Given the description of an element on the screen output the (x, y) to click on. 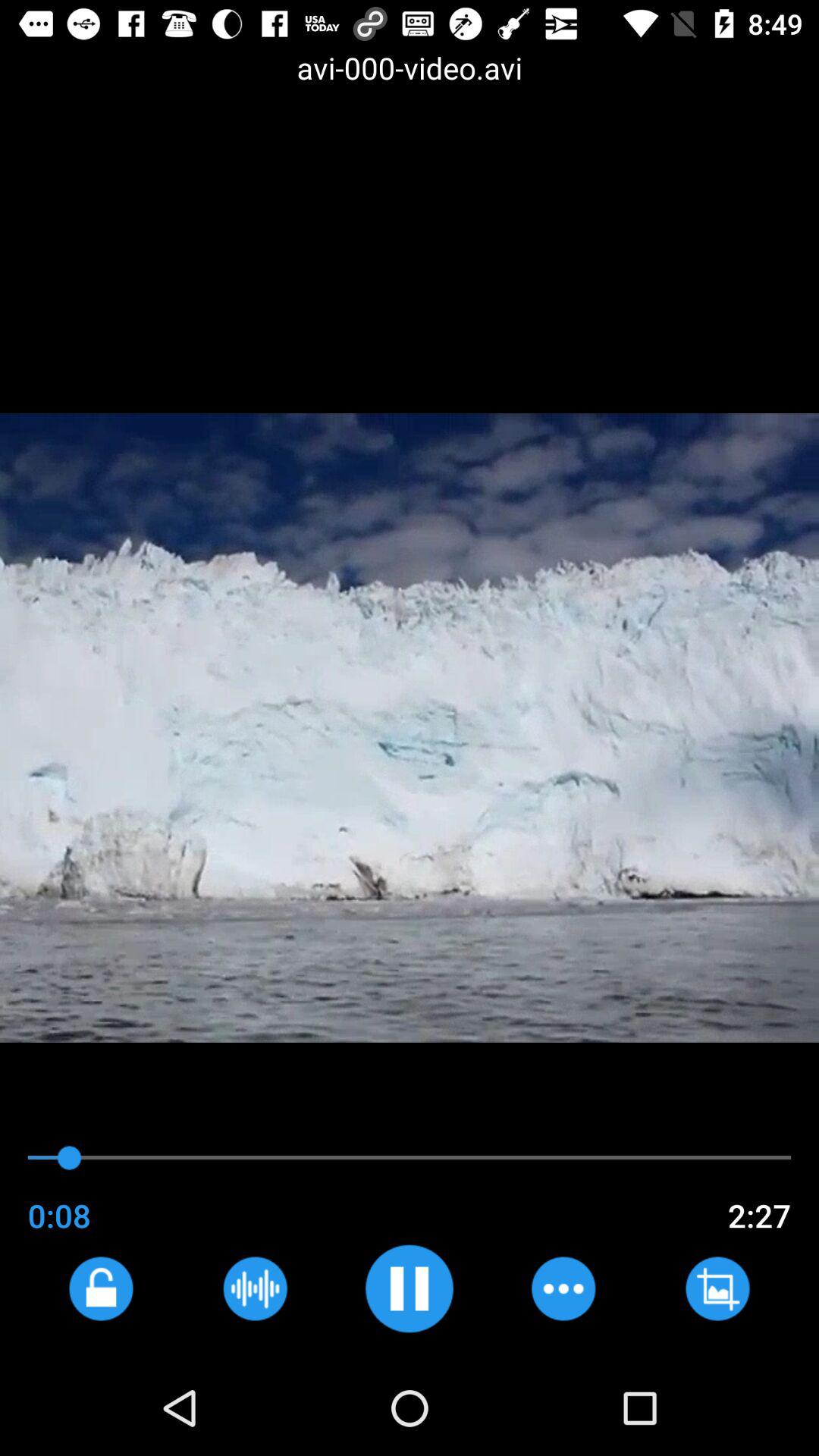
video lock (100, 1288)
